Given the description of an element on the screen output the (x, y) to click on. 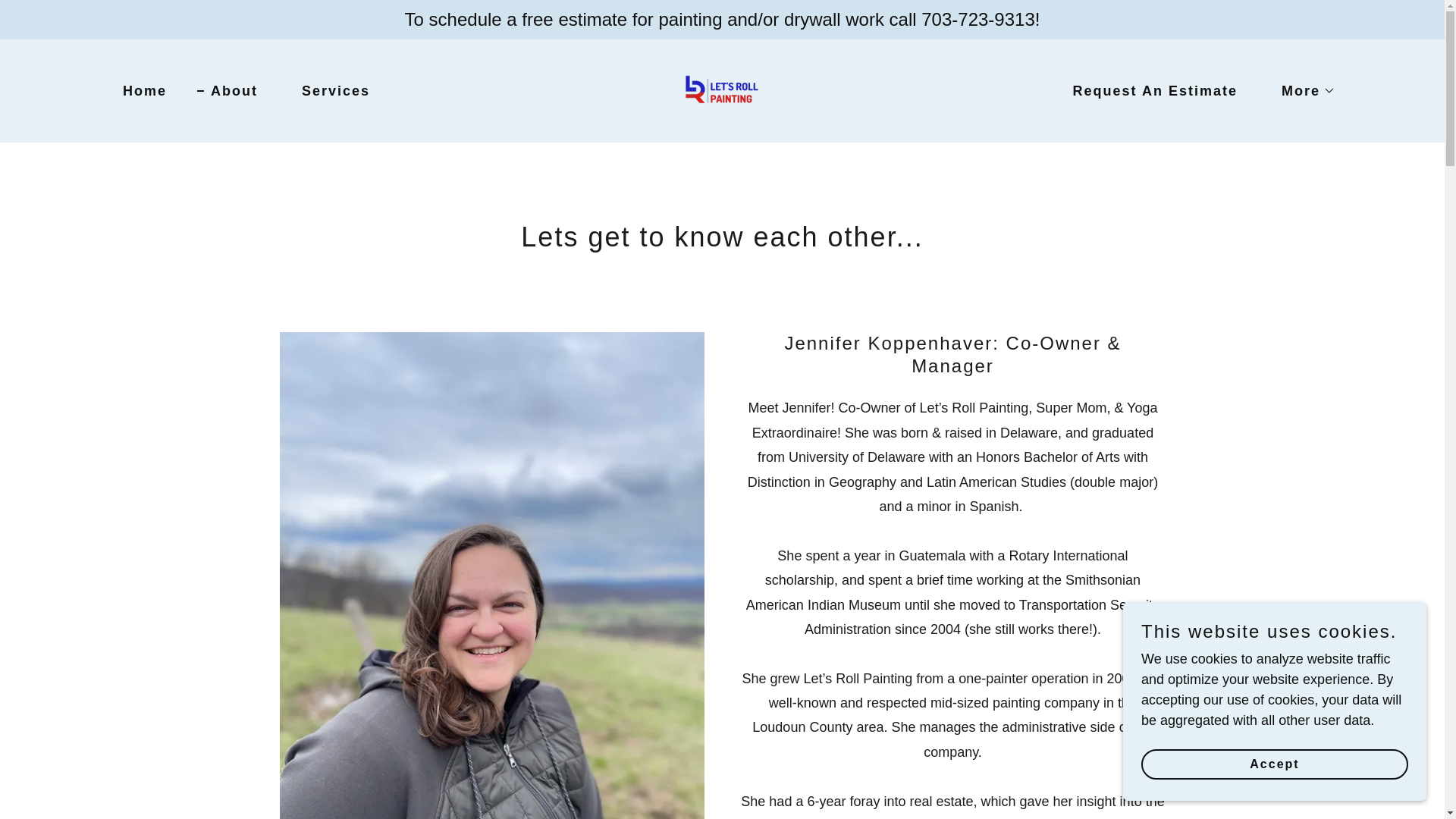
Let's Roll Painting (721, 89)
About (226, 90)
Services (328, 90)
Home (137, 90)
Request An Estimate (1147, 90)
More (1301, 90)
